Given the description of an element on the screen output the (x, y) to click on. 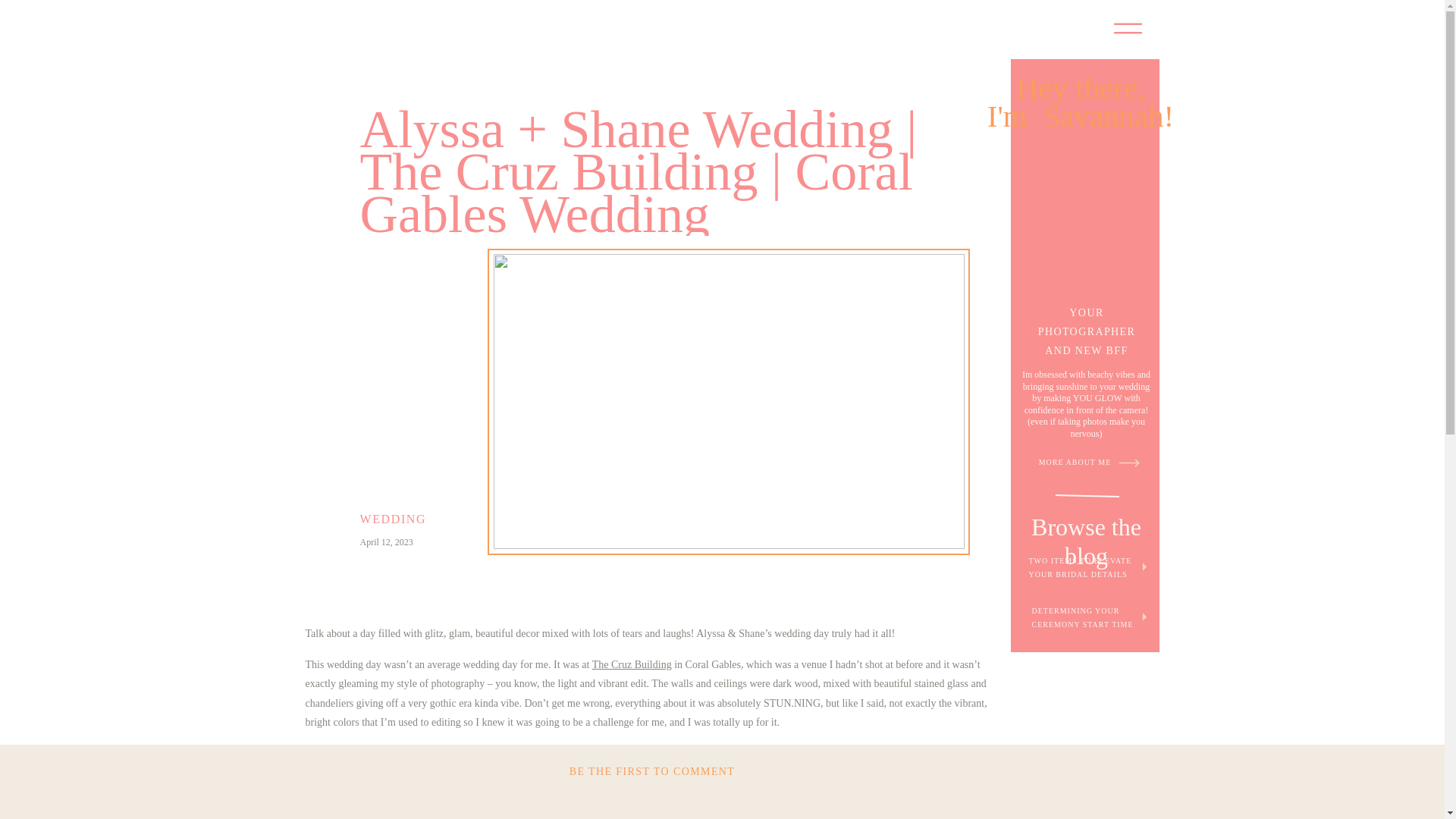
DETERMINING YOUR CEREMONY START TIME (1084, 615)
WEDDING (392, 518)
BE THE FIRST TO COMMENT (652, 771)
The Cruz Building (631, 664)
TWO ITEMS TO ELEVATE YOUR BRIDAL DETAILS (1084, 565)
